Given the description of an element on the screen output the (x, y) to click on. 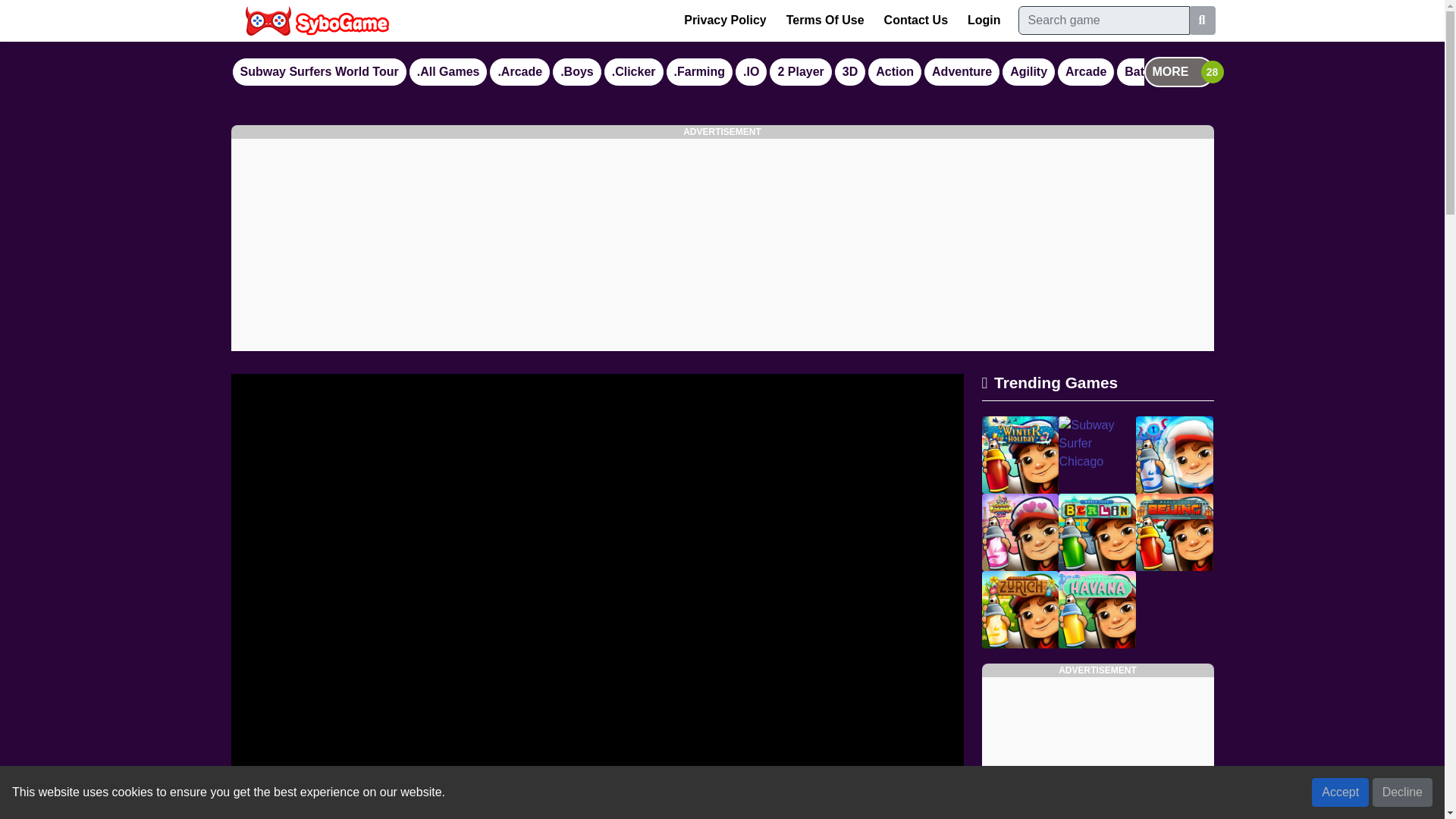
Advertisement (1096, 748)
.Clicker (633, 71)
.Arcade (519, 71)
.Farming (700, 71)
.Boys (576, 71)
Battle (1141, 71)
.All Games (448, 71)
Contact Us (915, 20)
2 Player (800, 71)
Action (894, 71)
Agility (1029, 71)
Adventure (962, 71)
Subway Surfers World Tour (318, 71)
Terms Of Use (825, 20)
MORE (1177, 71)
